Given the description of an element on the screen output the (x, y) to click on. 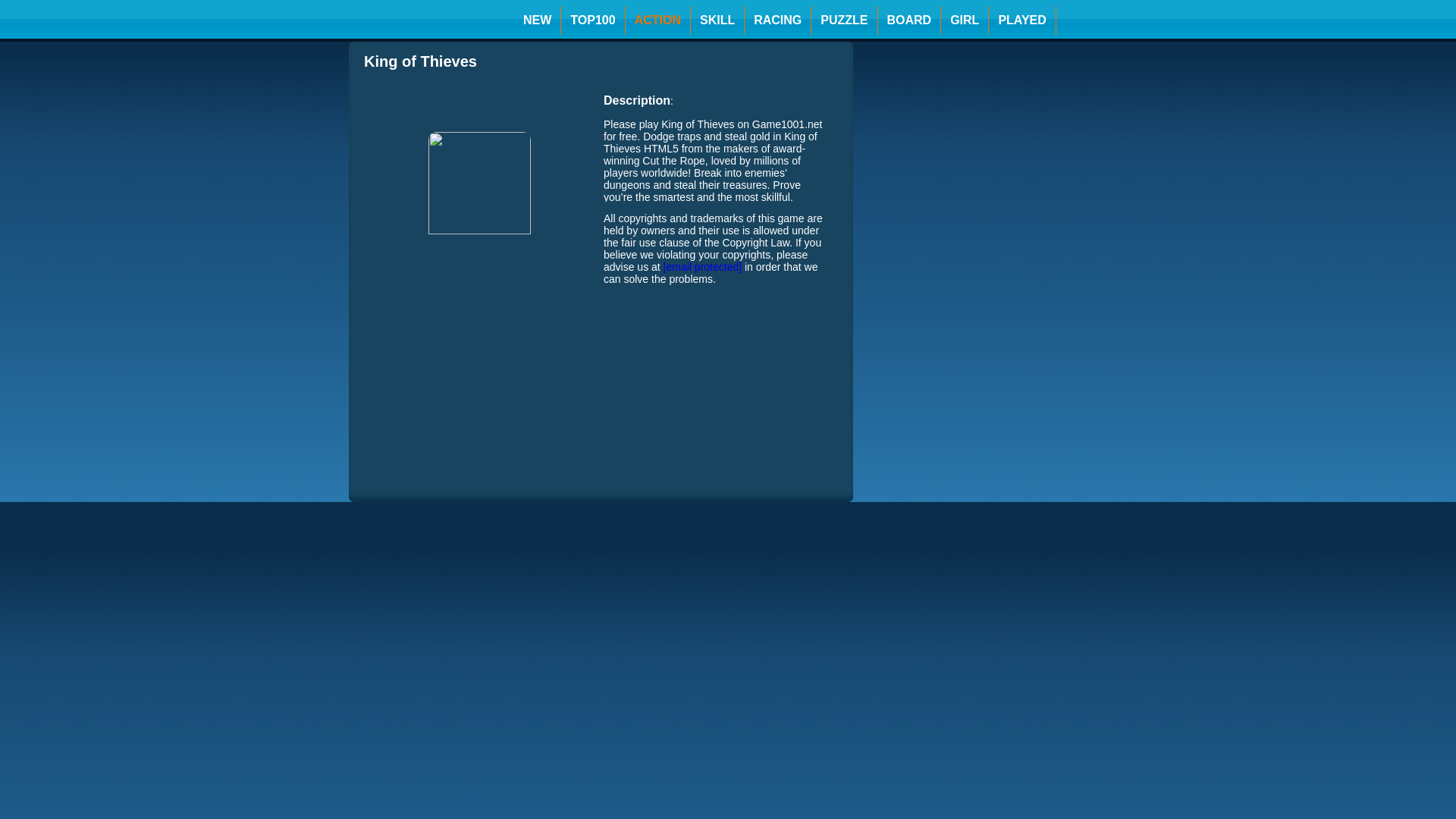
PUZZLE (844, 20)
NEW (536, 20)
GIRL (964, 20)
BOARD (908, 20)
TOP100 (592, 20)
ACTION (657, 20)
PLAYED (1021, 20)
SKILL (717, 20)
RACING (778, 20)
